Given the description of an element on the screen output the (x, y) to click on. 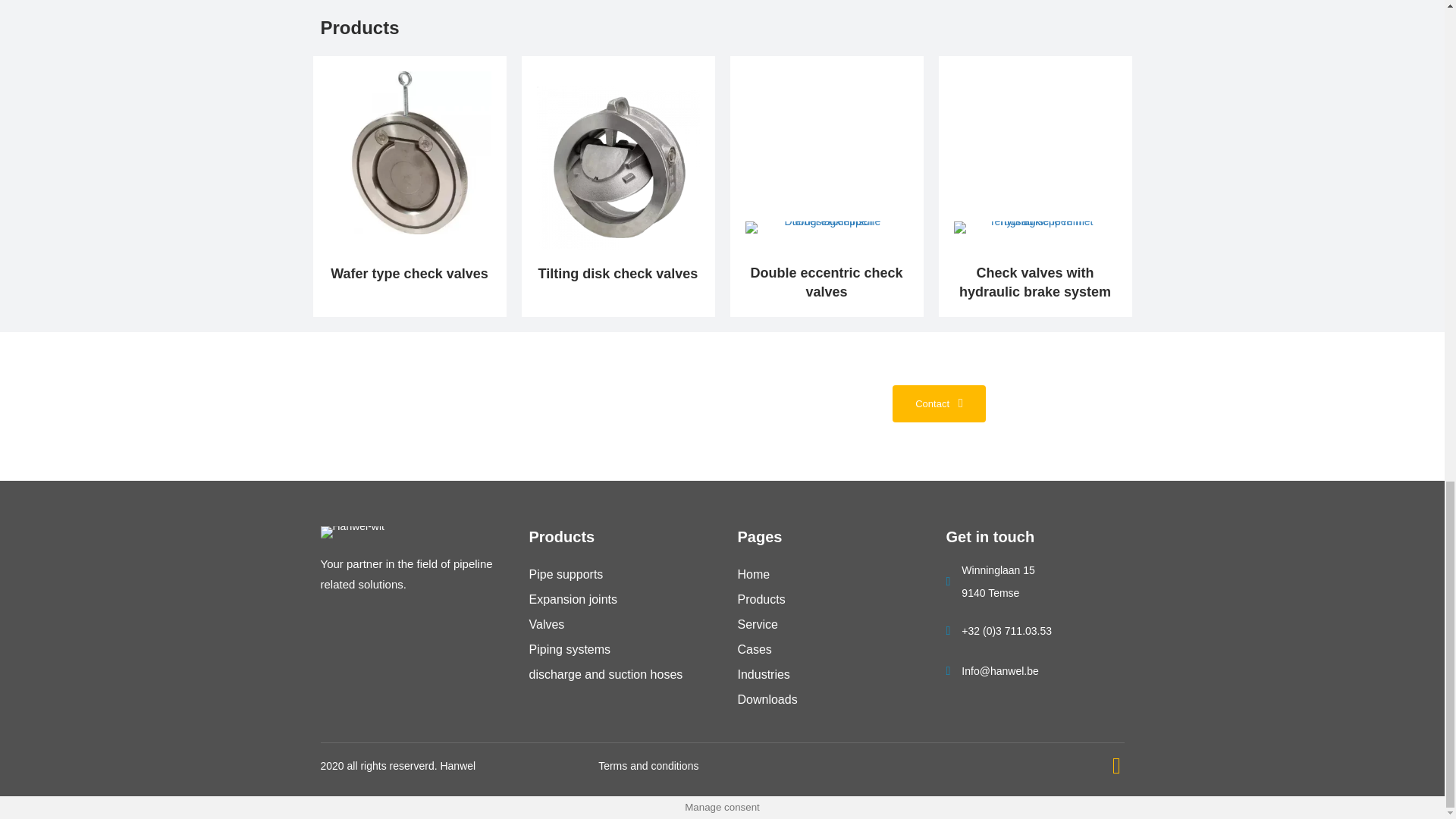
Check valves with hydraulic brake system (1034, 282)
Double eccentric check valves (825, 282)
Tilting disk check valves (618, 273)
Terugslagkleppen met hydraulische rem (1034, 227)
Wafer type check valves (408, 273)
Tilting-disc-terugslagkleppen-1 (618, 167)
Hanwel-wit (352, 532)
Inklembare terugslagkleppen (408, 152)
Dubbel excentrische terugslagkleppen (825, 227)
